Given the description of an element on the screen output the (x, y) to click on. 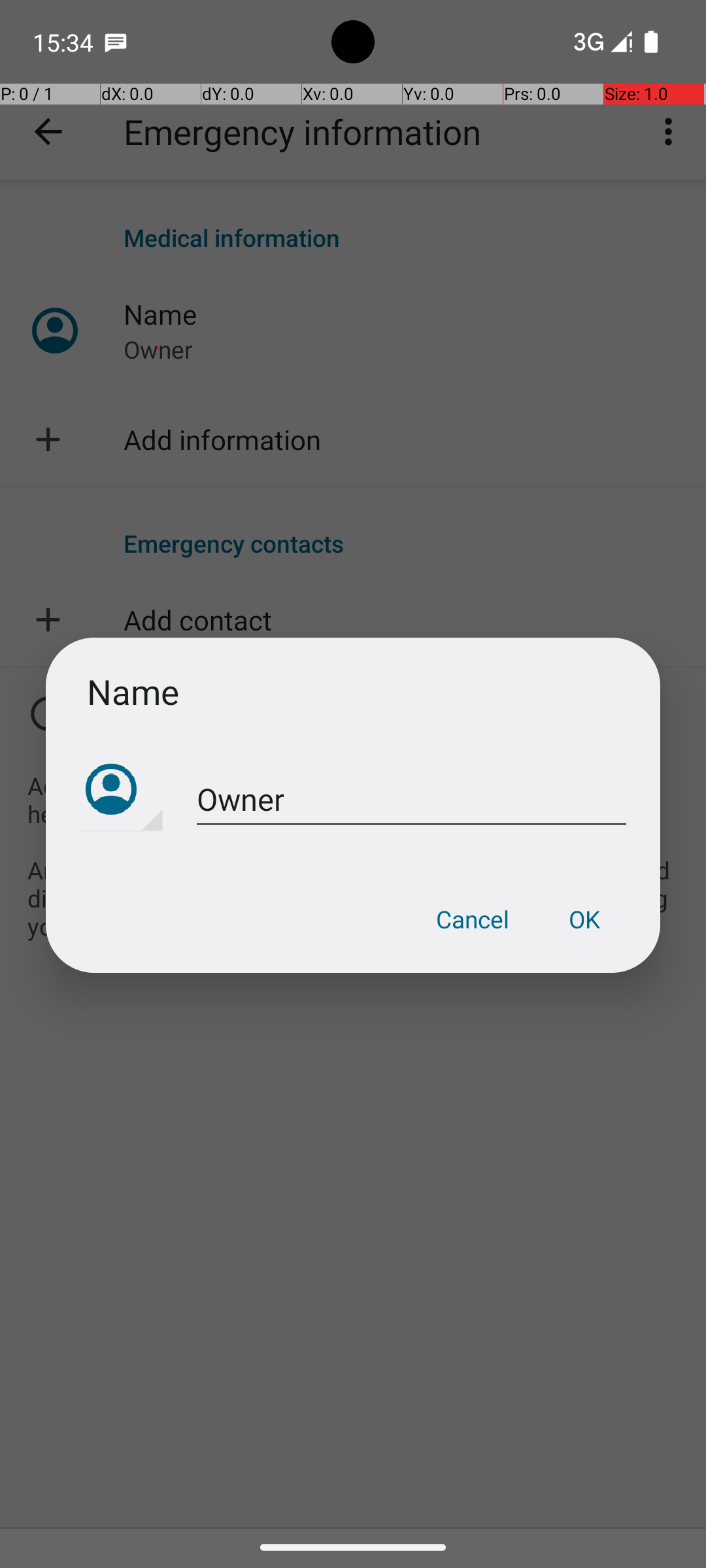
Select photo Element type: android.widget.ImageView (121, 790)
Owner Element type: android.widget.EditText (411, 799)
